Given the description of an element on the screen output the (x, y) to click on. 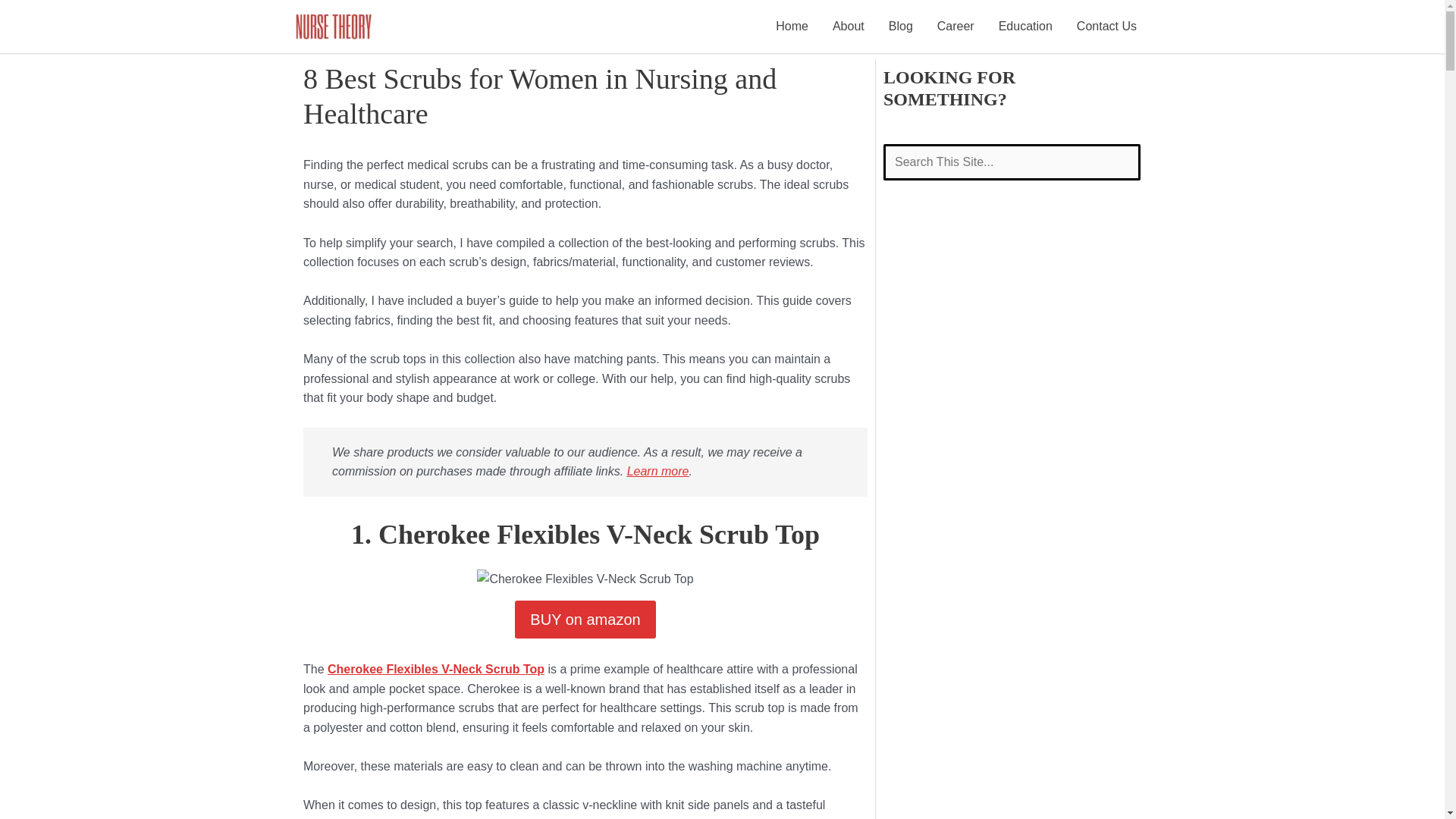
Contact Us (1106, 26)
Blog (900, 26)
Home (791, 26)
About (848, 26)
Career (955, 26)
BUY on amazon (585, 619)
Learn more (657, 471)
Education (1025, 26)
Cherokee Flexibles V-Neck Scrub Top (435, 668)
